Given the description of an element on the screen output the (x, y) to click on. 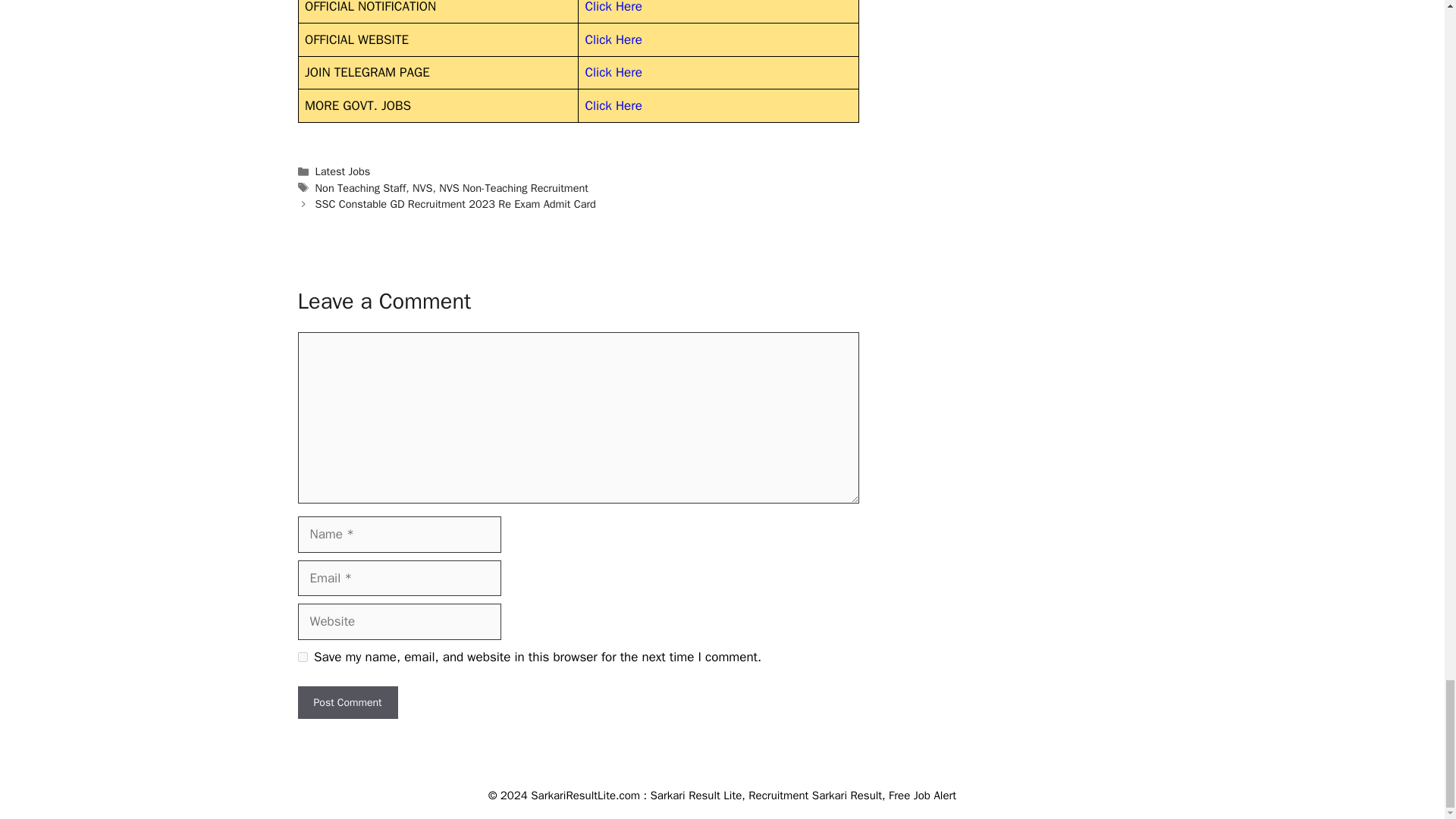
Post Comment (347, 702)
yes (302, 656)
Post Comment (347, 702)
NVS Non-Teaching Recruitment (513, 187)
Non Teaching Staff (360, 187)
NVS (422, 187)
SSC Constable GD Recruitment 2023 Re Exam Admit Card (455, 203)
Latest Jobs (343, 171)
